Given the description of an element on the screen output the (x, y) to click on. 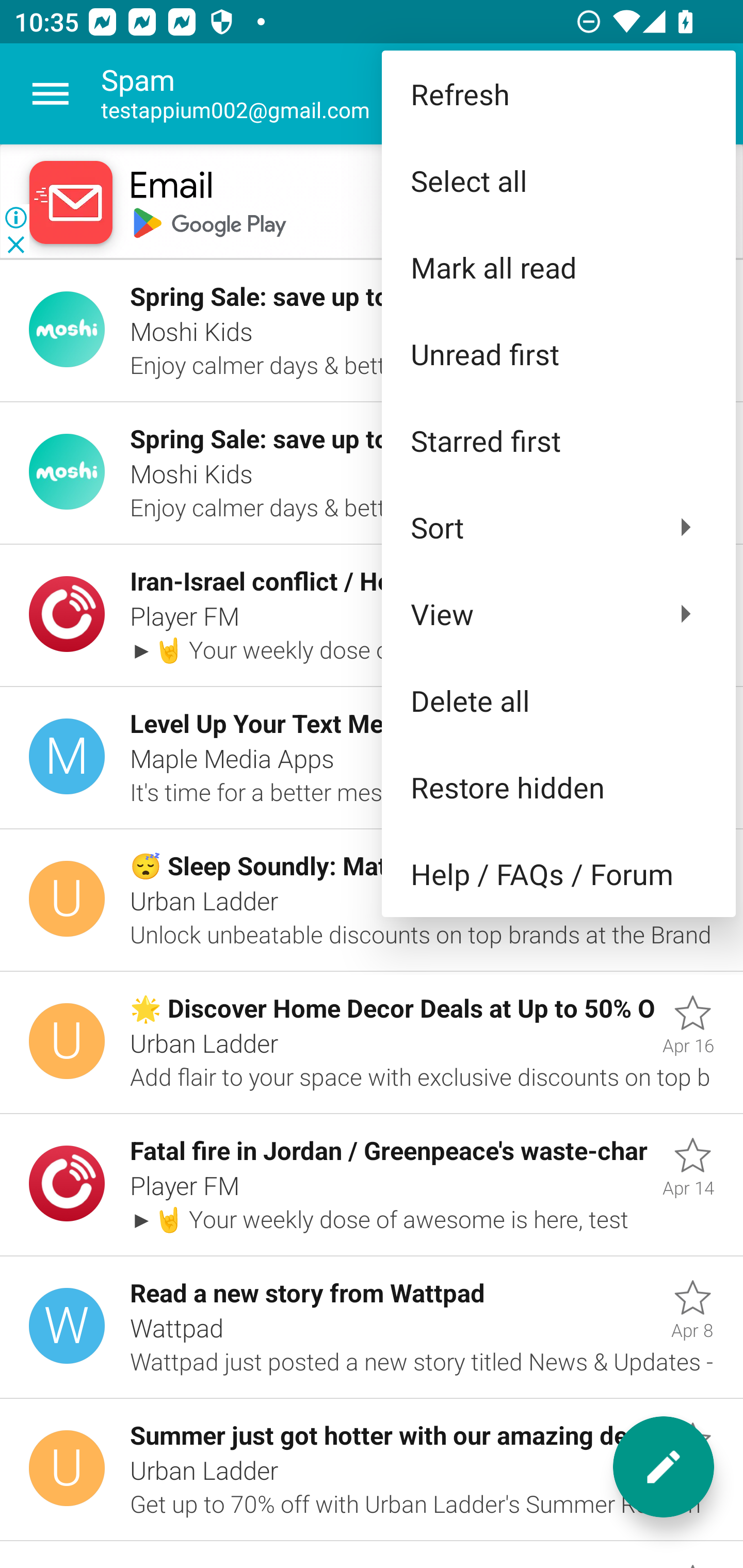
Refresh (558, 93)
Select all (558, 180)
Mark all read (558, 267)
Unread first (558, 353)
Starred first (558, 440)
Sort (558, 527)
View (558, 613)
Delete all (558, 699)
Restore hidden (558, 787)
Help / FAQs / Forum (558, 874)
